Given the description of an element on the screen output the (x, y) to click on. 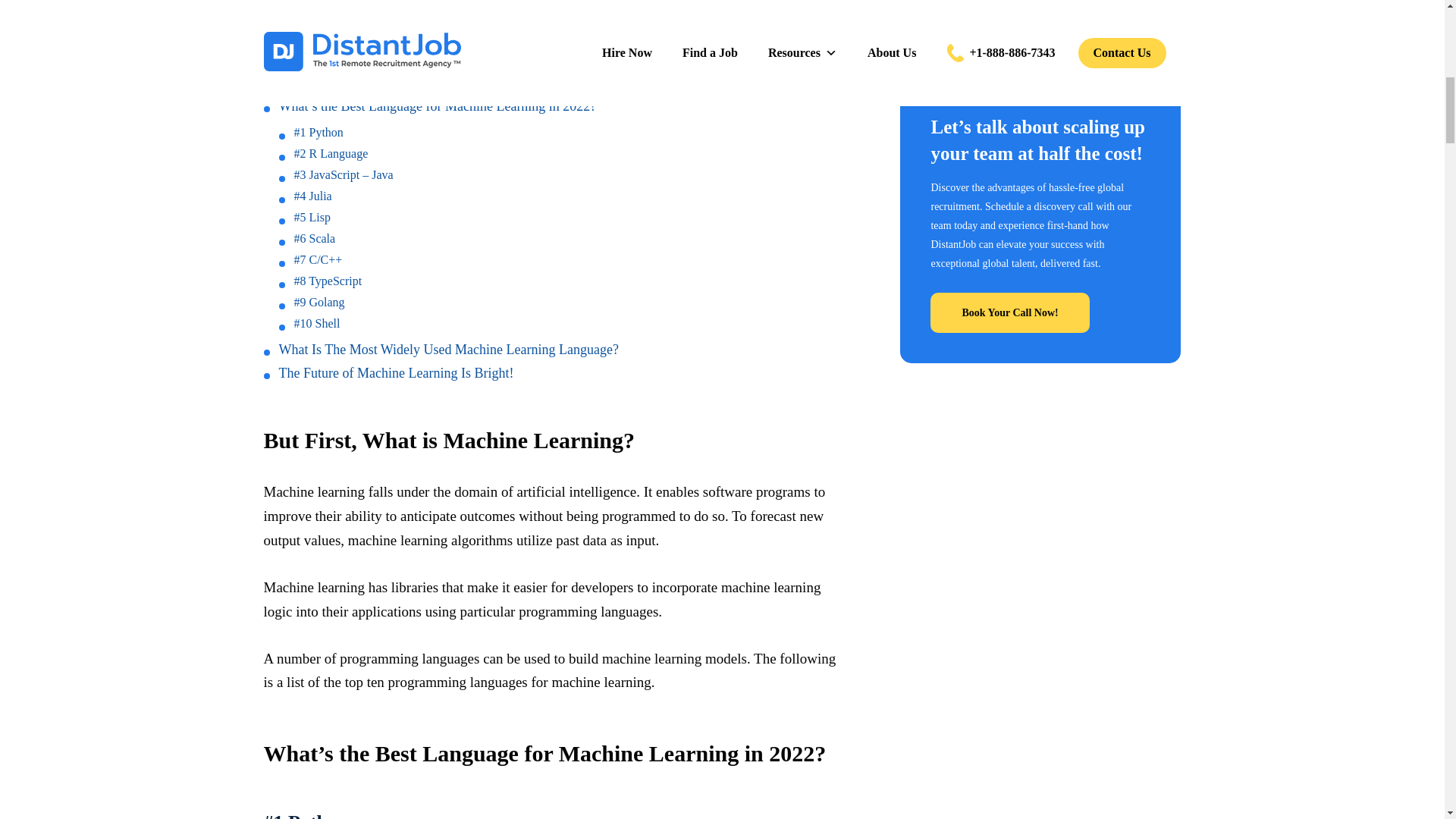
But First, What is Machine Learning? (382, 82)
